Given the description of an element on the screen output the (x, y) to click on. 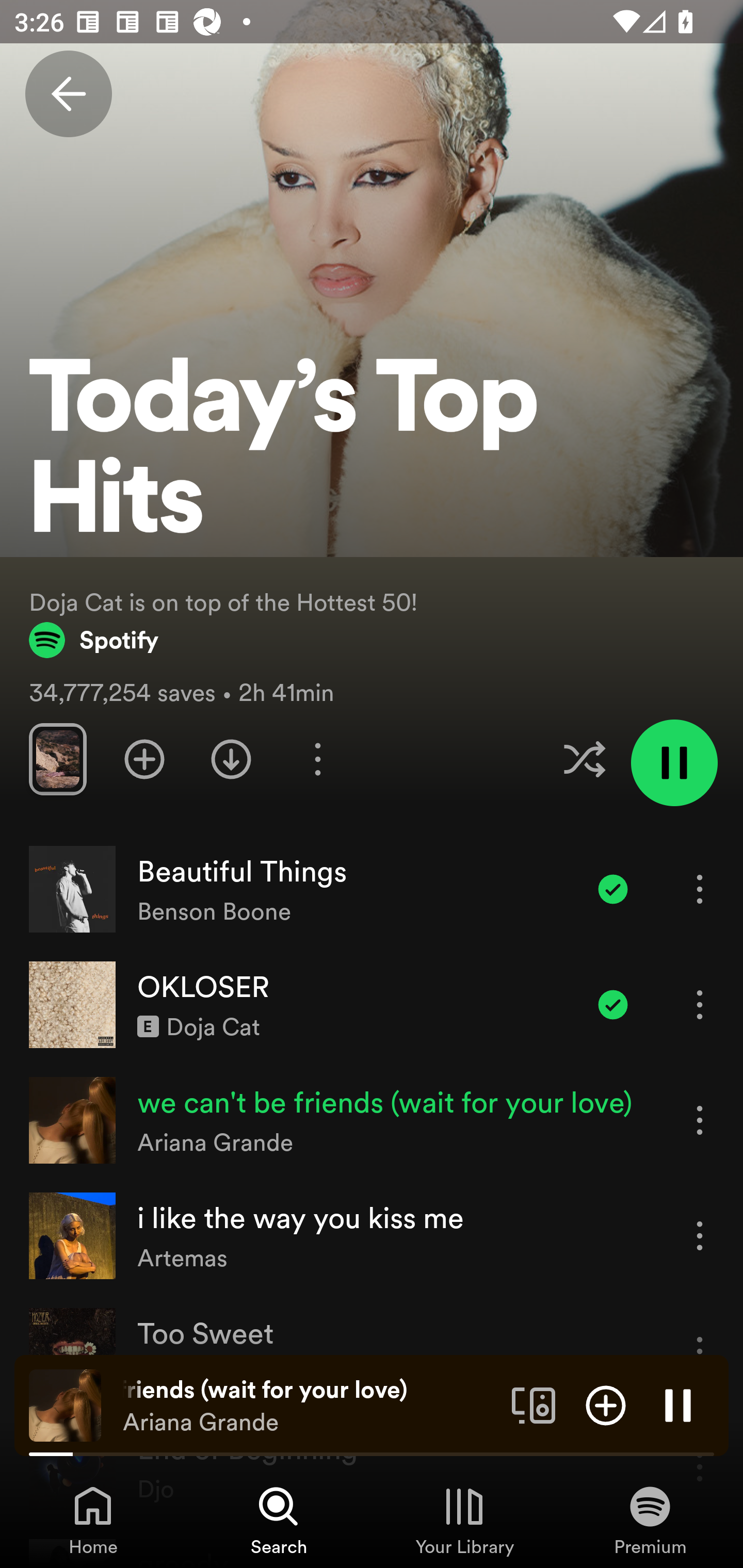
Back (68, 93)
Spotify (93, 640)
Swipe through previews of tracks in this playlist. (57, 759)
Add playlist to Your Library (144, 759)
Download (230, 759)
More options for playlist Today’s Top Hits (317, 759)
Enable shuffle for this playlist (583, 759)
Pause playlist (674, 762)
Item added (612, 888)
More options for song Beautiful Things (699, 888)
Item added (612, 1004)
More options for song OKLOSER (699, 1004)
More options for song i like the way you kiss me (699, 1236)
Too Sweet Hozier More options for song Too Sweet (371, 1351)
